Given the description of an element on the screen output the (x, y) to click on. 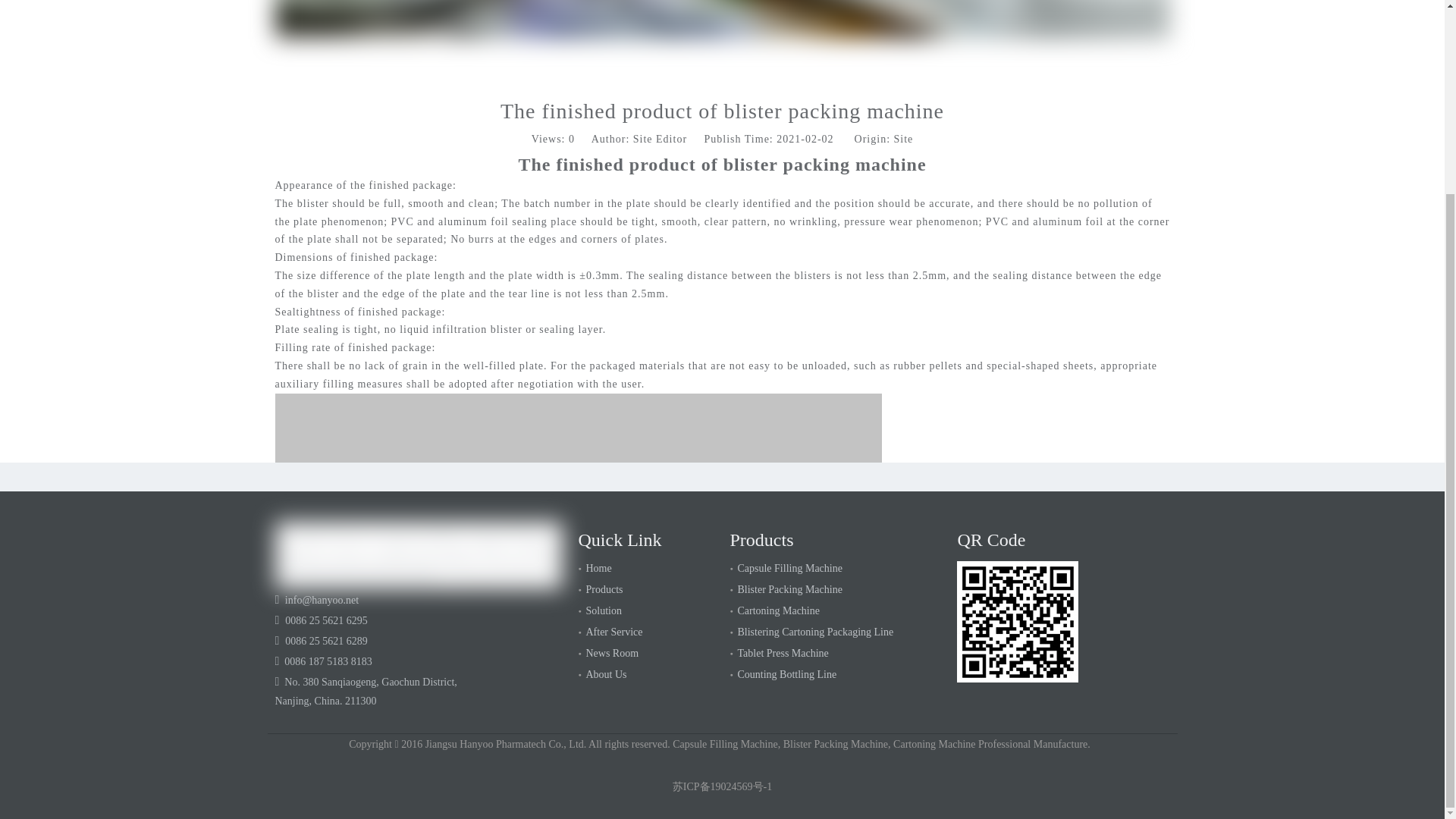
Capsule Filling Machine, Blister Packing Machine (418, 554)
News Room (612, 653)
After Service (613, 632)
Home (598, 568)
Tablet Press Machine (782, 653)
Blister Packing Machine (788, 589)
Linkedin (1127, 476)
Solution (603, 610)
Counting Bottling Line (785, 674)
Cartoning Machine (777, 610)
Blistering Cartoning Packaging Line (814, 632)
Capsule Filling Machine (788, 568)
About Us (605, 674)
Facebook (1039, 476)
Twitter (1097, 476)
